Given the description of an element on the screen output the (x, y) to click on. 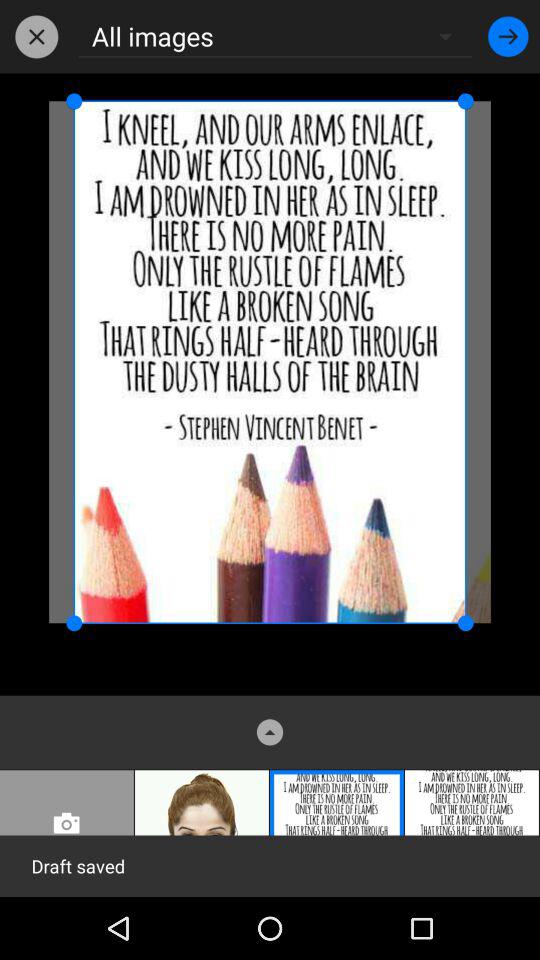
launch item next to all images (508, 36)
